Given the description of an element on the screen output the (x, y) to click on. 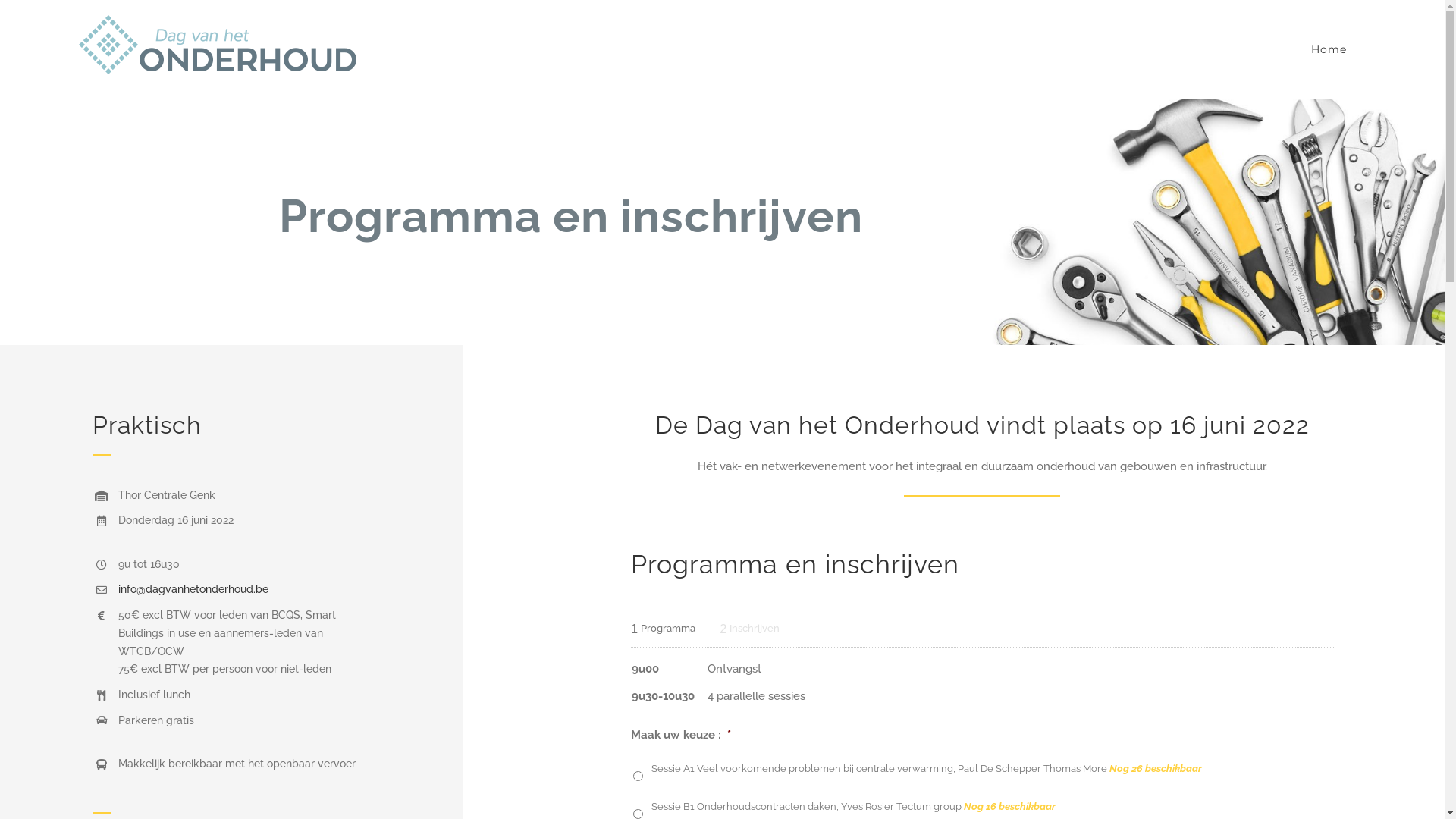
Home Element type: text (1328, 49)
info@dagvanhetonderhoud.be Element type: text (193, 589)
